Given the description of an element on the screen output the (x, y) to click on. 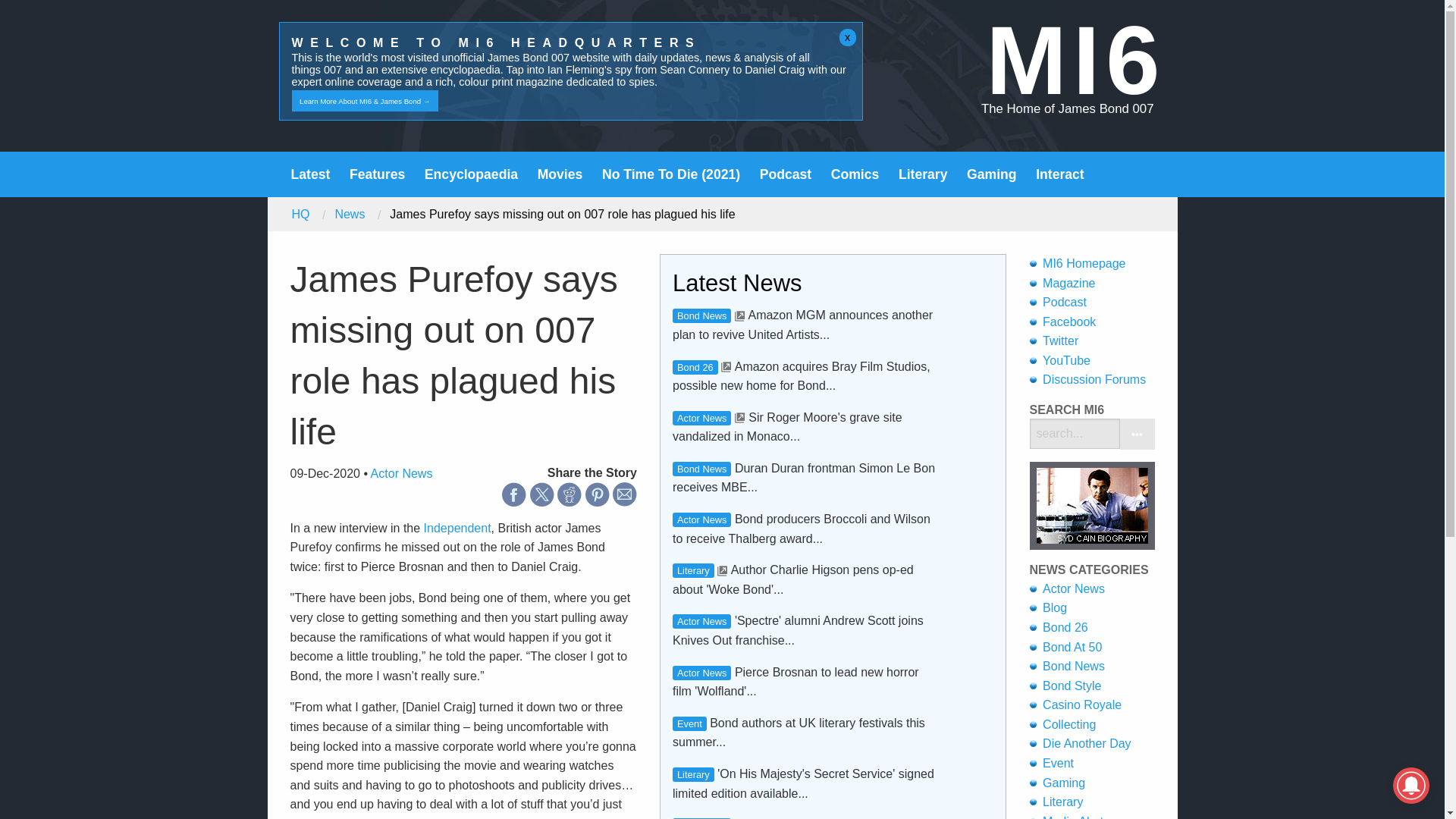
Interact (1059, 174)
Encyclopaedia (471, 174)
Latest (310, 174)
Movies (560, 174)
Gaming (991, 174)
Podcast (785, 174)
The Home of James Bond 007 (1067, 108)
Features (376, 174)
x (848, 37)
Comics (855, 174)
